Given the description of an element on the screen output the (x, y) to click on. 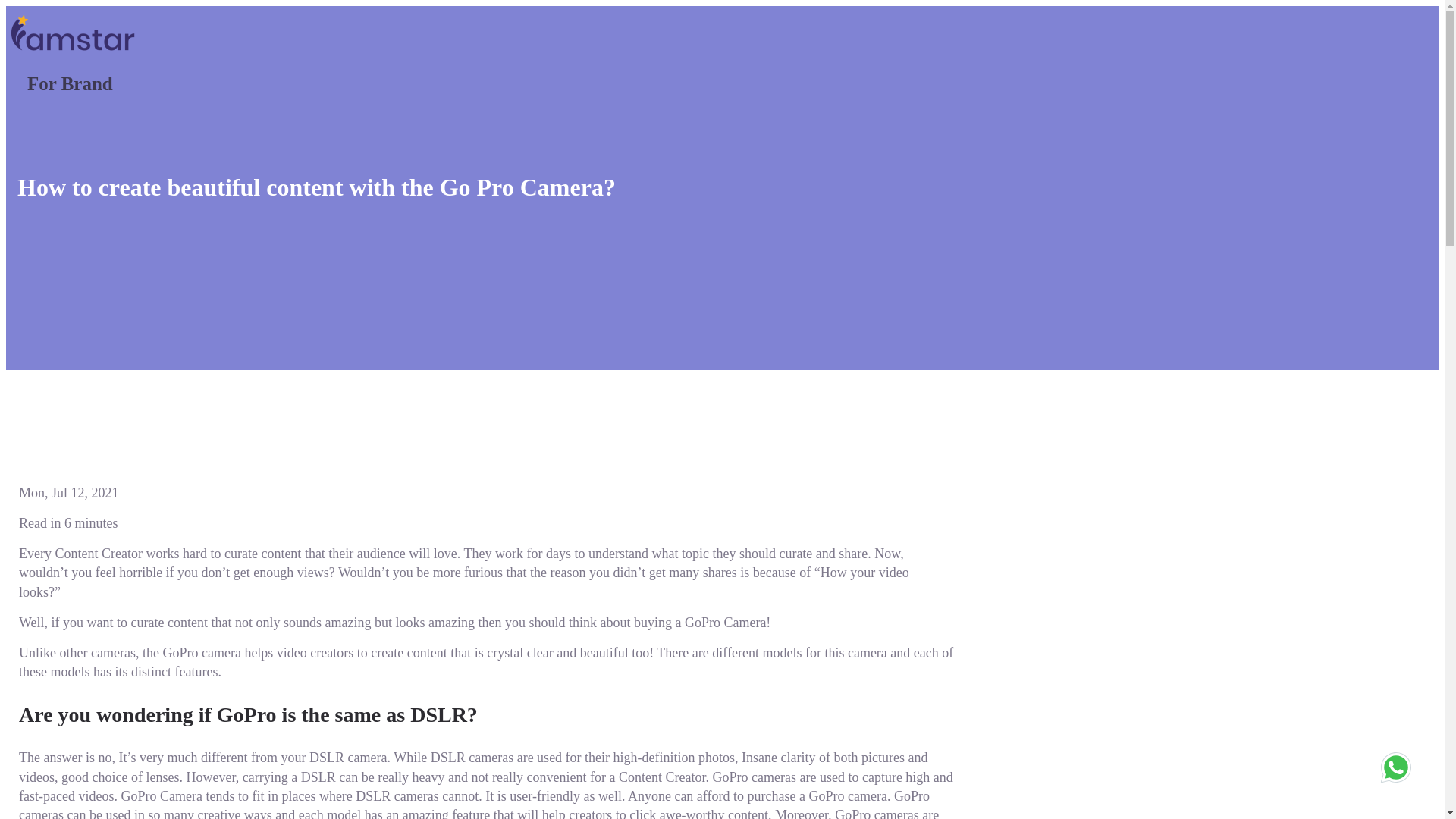
For Brand (485, 90)
